Given the description of an element on the screen output the (x, y) to click on. 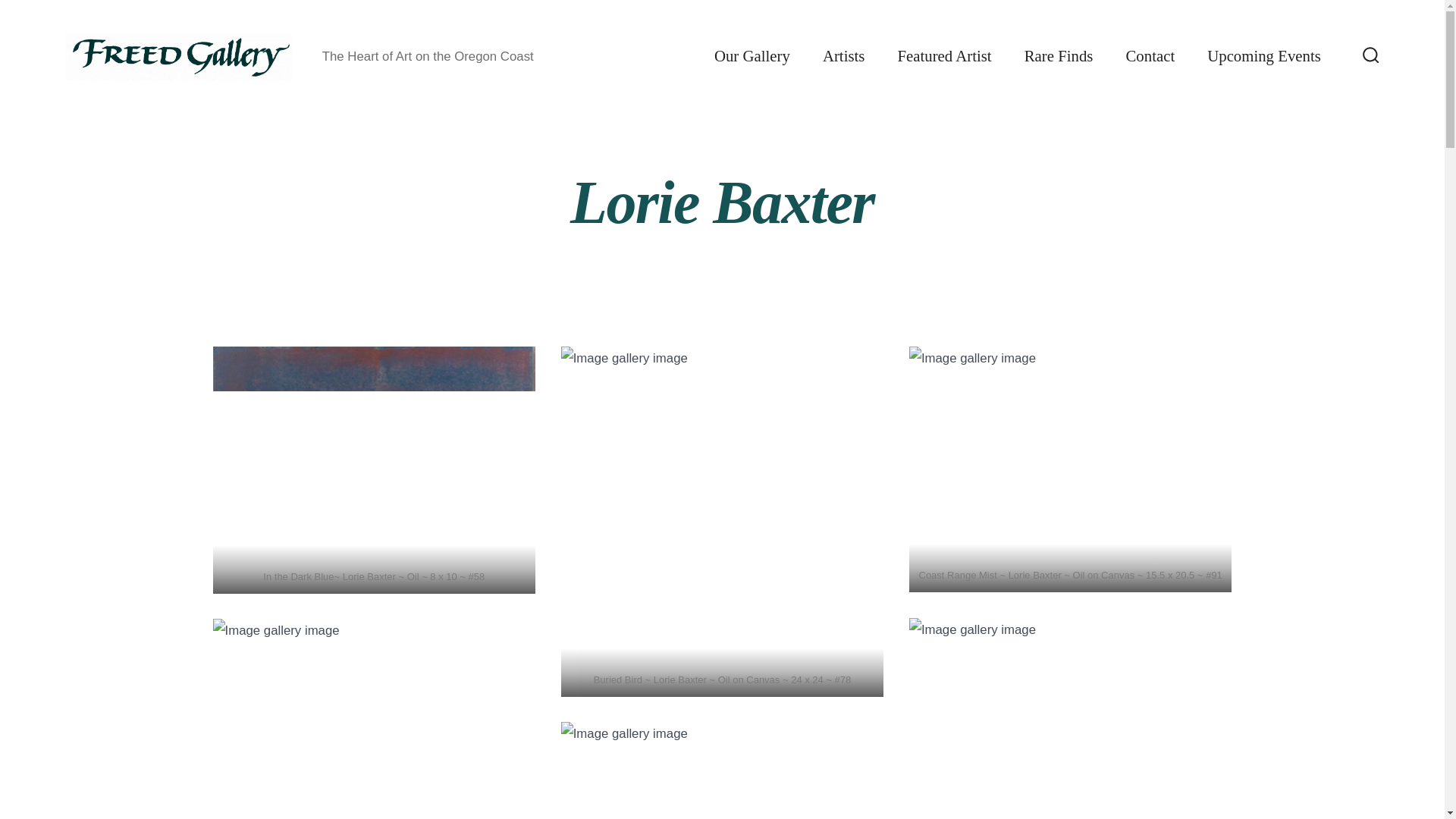
Our Gallery (752, 55)
Rare Finds (1059, 55)
Artists (843, 55)
Contact (1149, 55)
Search Toggle (1371, 56)
Upcoming Events (1263, 55)
Featured Artist (943, 55)
